Given the description of an element on the screen output the (x, y) to click on. 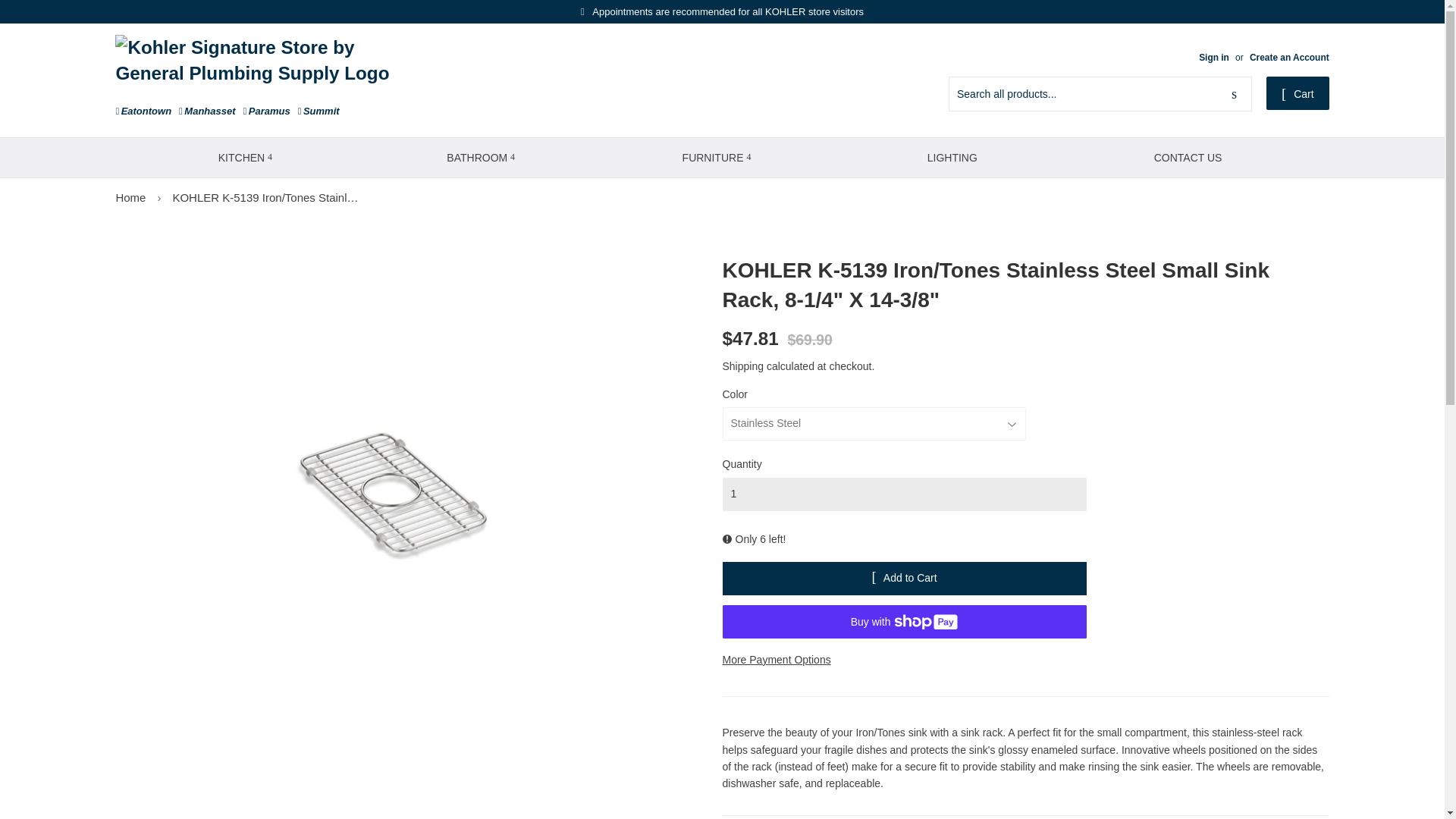
Back to the frontpage (130, 197)
Sign in (1213, 57)
Create an Account (1289, 57)
1 (904, 494)
Eatontown (143, 110)
Paramus (266, 110)
Appointments are recommended for all KOHLER store visitors (721, 11)
Summit (318, 110)
Cart (1297, 92)
Manhasset (206, 110)
Search (1233, 93)
